Given the description of an element on the screen output the (x, y) to click on. 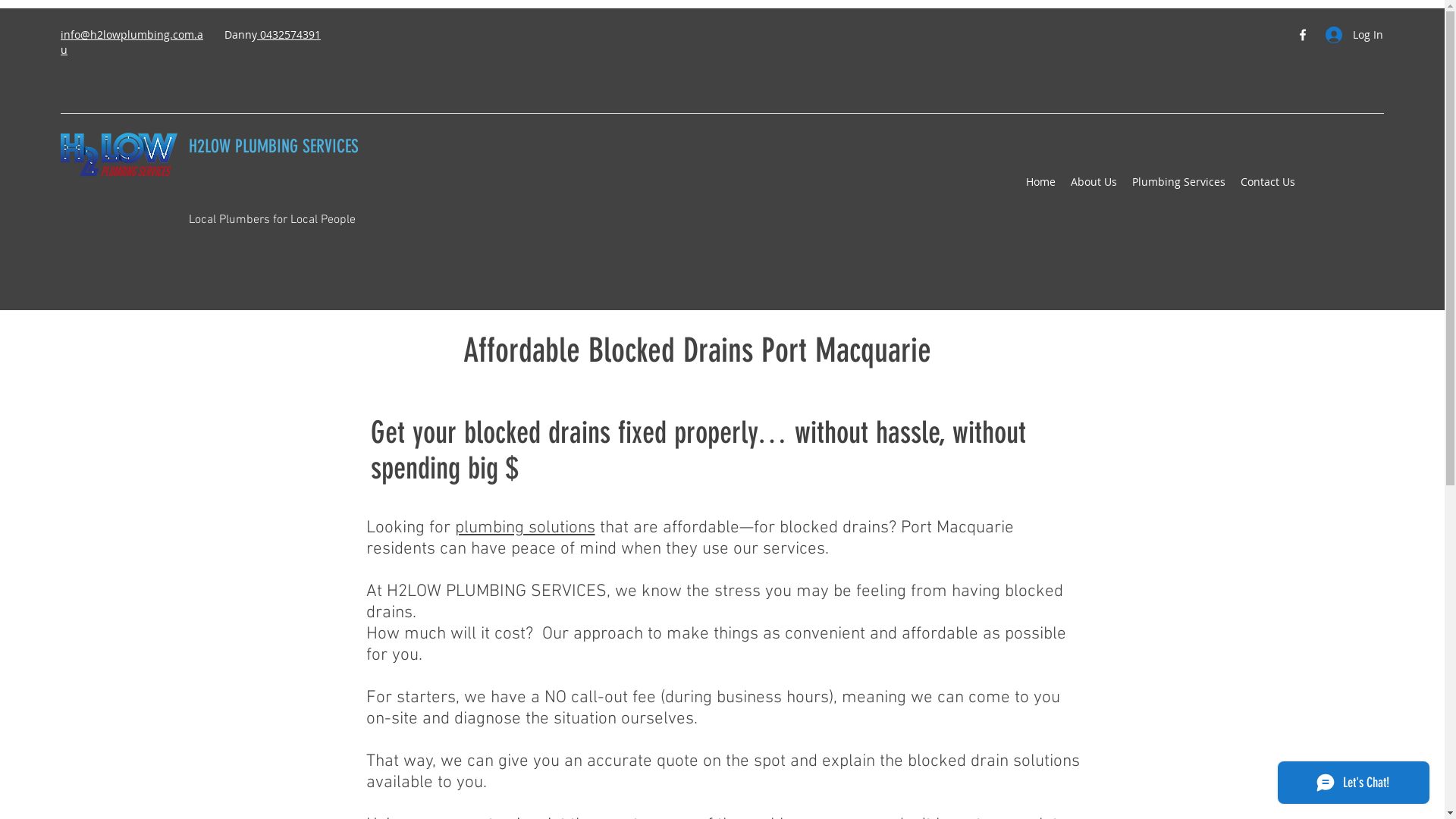
Log In Element type: text (1348, 34)
Home Element type: text (1040, 181)
About Us Element type: text (1093, 181)
0432574391 Element type: text (288, 34)
Contact Us Element type: text (1267, 181)
info@h2lowplumbing.com.au Element type: text (131, 41)
plumbing solutions Element type: text (525, 527)
H2Low Plumbing Services Element type: hover (118, 155)
